Given the description of an element on the screen output the (x, y) to click on. 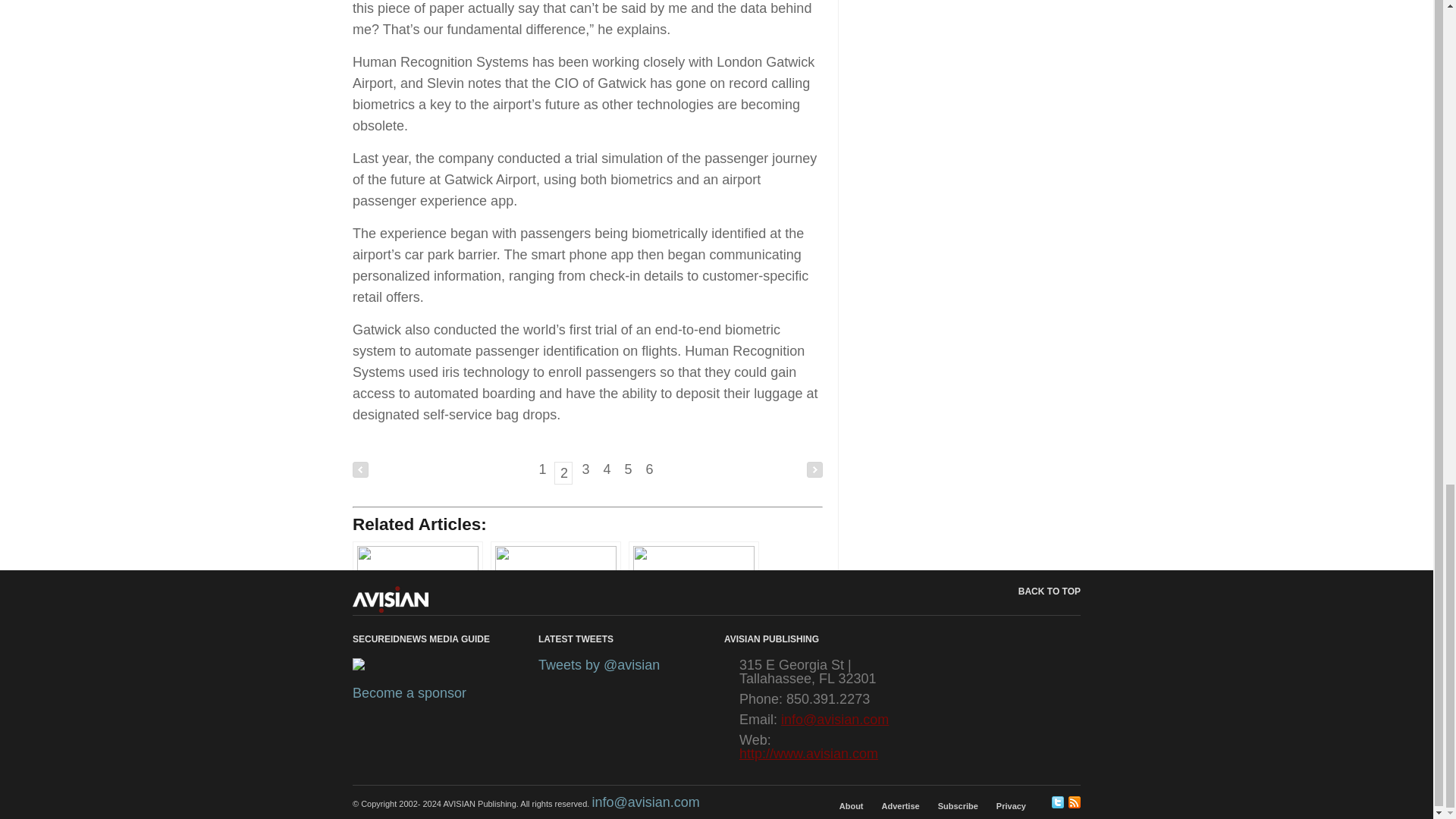
SecureIDNews (390, 599)
TSA PreCheck adds 60 airport locations (417, 602)
6 (650, 469)
3 (586, 469)
4 (606, 469)
The moment of truth for airlines on RFID (693, 602)
1 (542, 469)
TSA PreCheck adds 60 airport locations (417, 602)
5 (628, 469)
